Given the description of an element on the screen output the (x, y) to click on. 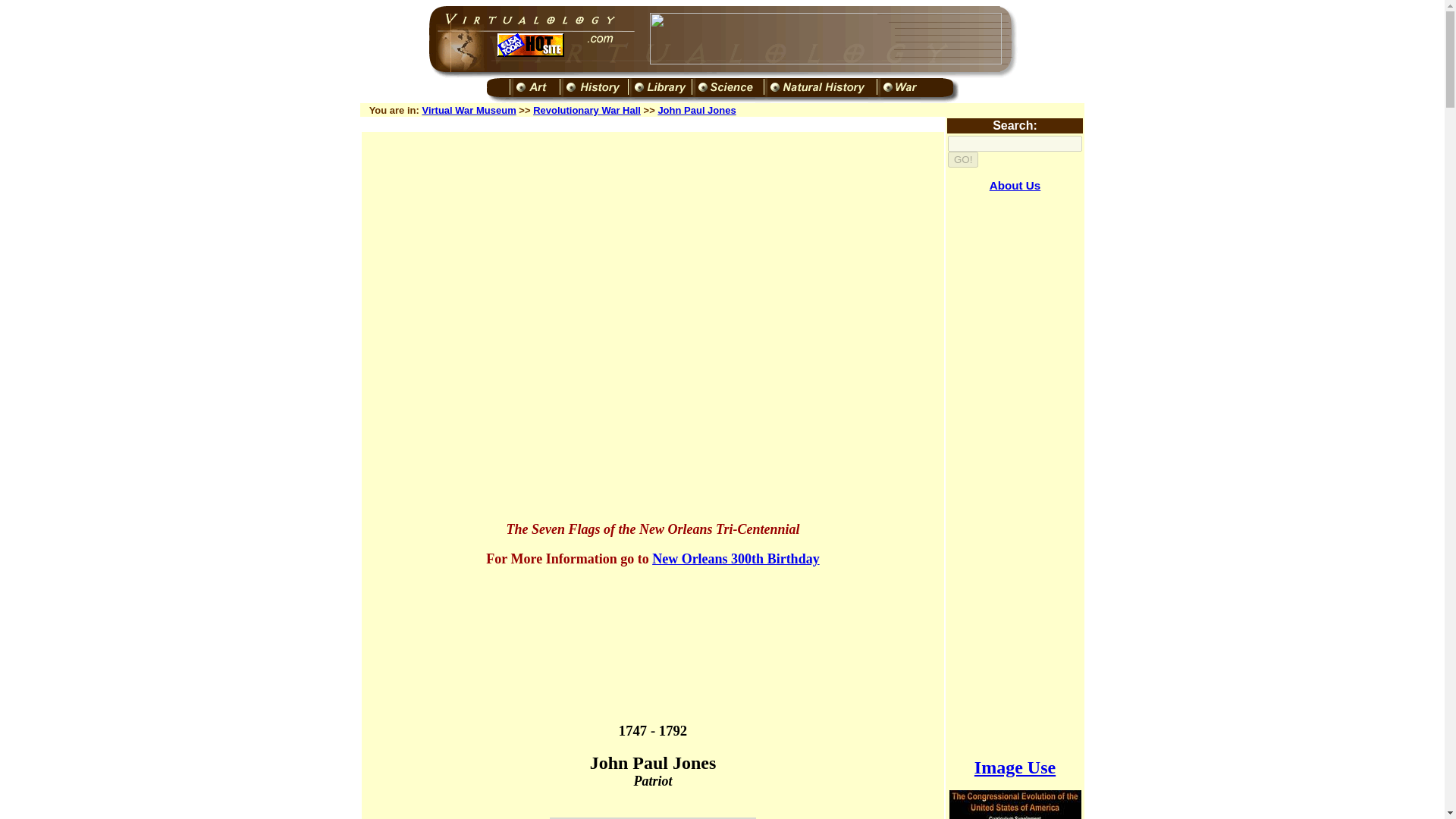
Revolutionary War Hall (586, 110)
Advertisement (652, 194)
GO! (962, 159)
Virtual War Museum (468, 110)
About Us (1015, 185)
GO! (962, 159)
John Paul Jones (696, 110)
Advertisement (1014, 475)
New Orleans 300th Birthday (735, 558)
Image Use (1014, 767)
